Given the description of an element on the screen output the (x, y) to click on. 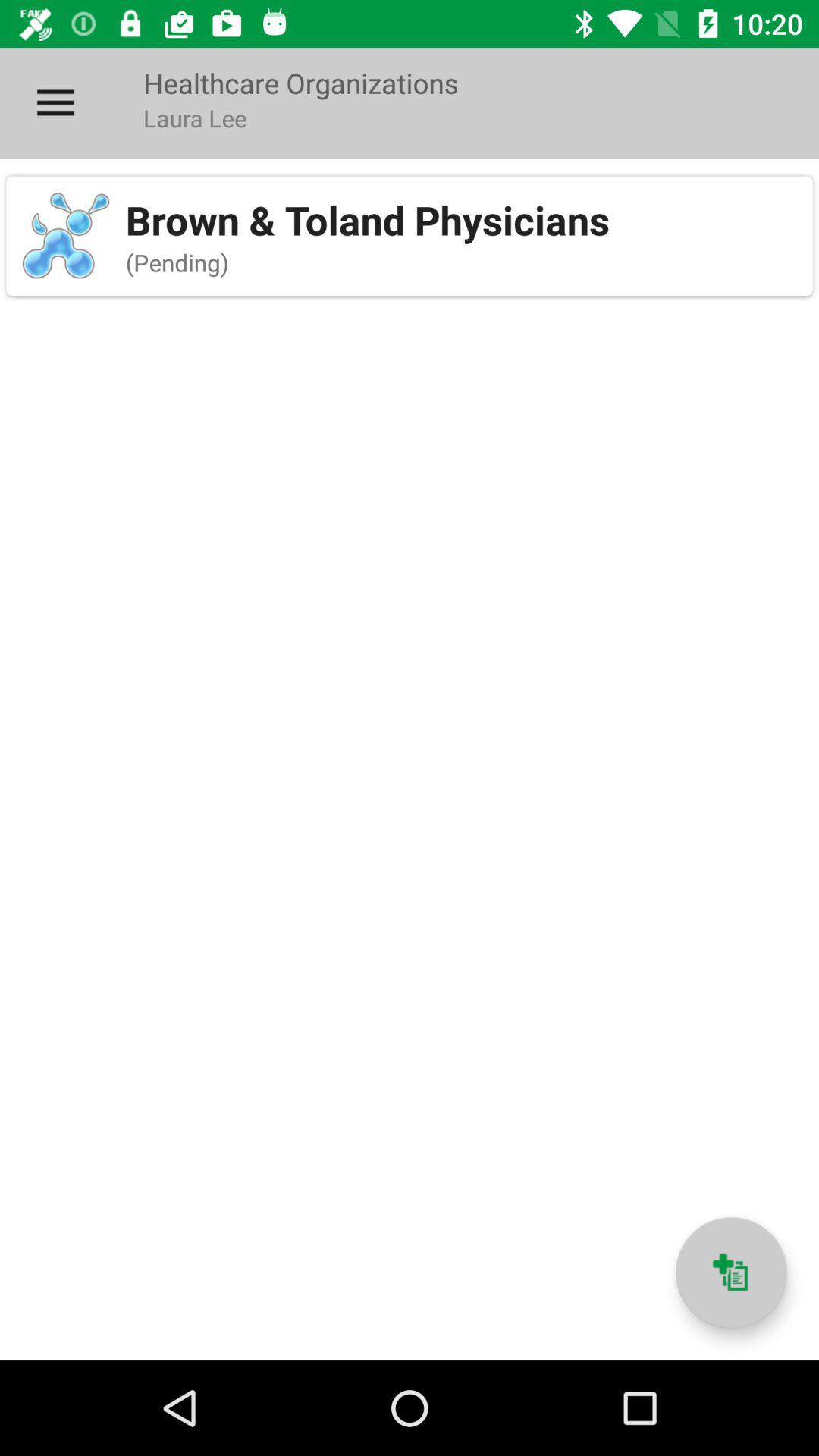
click the icon next to healthcare organizations item (55, 103)
